Given the description of an element on the screen output the (x, y) to click on. 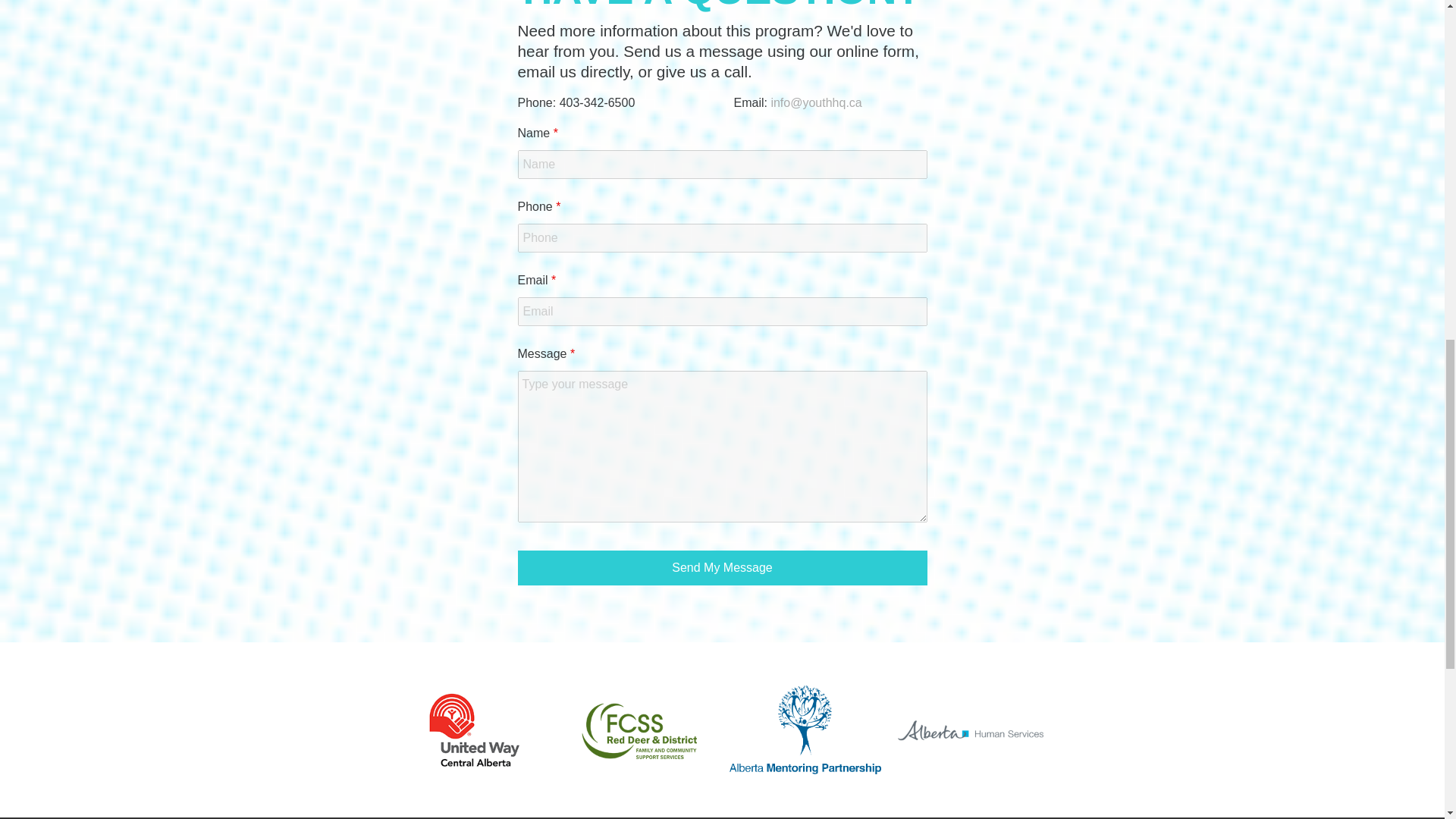
Send My Message (721, 567)
